Given the description of an element on the screen output the (x, y) to click on. 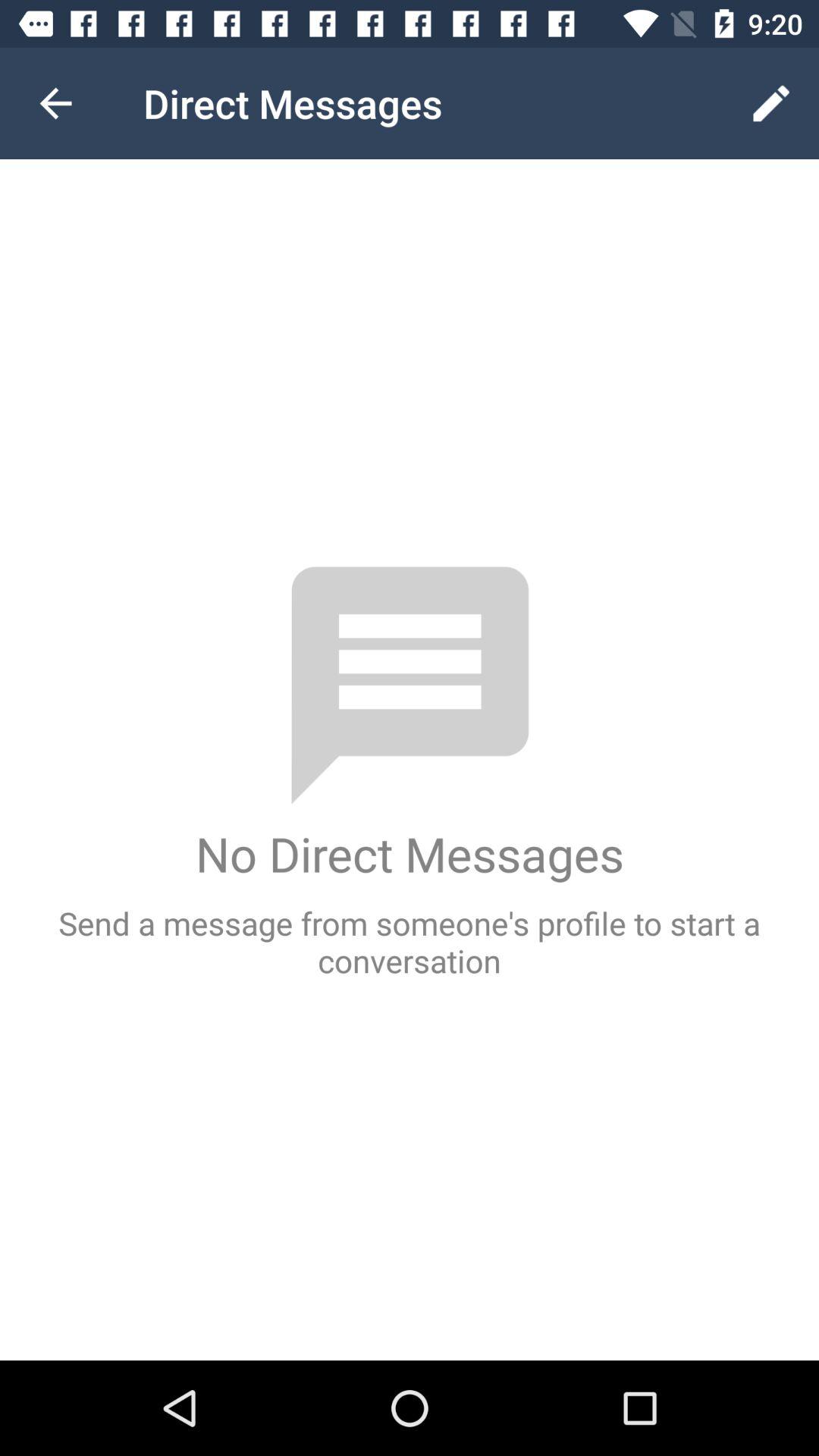
choose the icon to the left of the direct messages (55, 103)
